Given the description of an element on the screen output the (x, y) to click on. 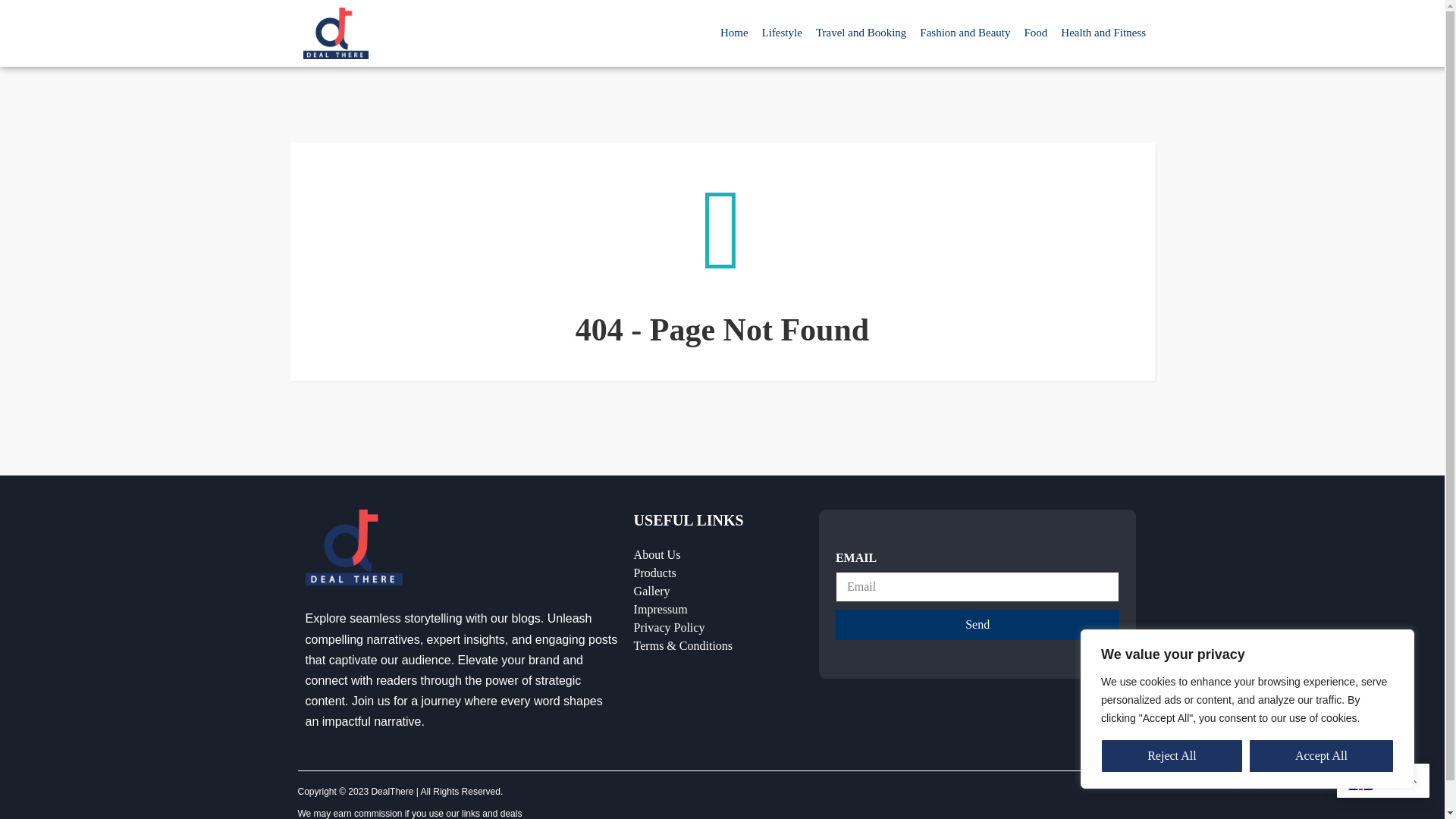
Impressum (718, 609)
Products (718, 573)
Accept All (1321, 756)
Reject All (1171, 756)
Travel and Booking (860, 24)
Fashion and Beauty (964, 25)
Gallery (718, 591)
Health and Fitness (1103, 26)
Food (1035, 26)
Lifestyle (782, 23)
Home (734, 21)
About Us (718, 555)
Privacy Policy (718, 628)
